Given the description of an element on the screen output the (x, y) to click on. 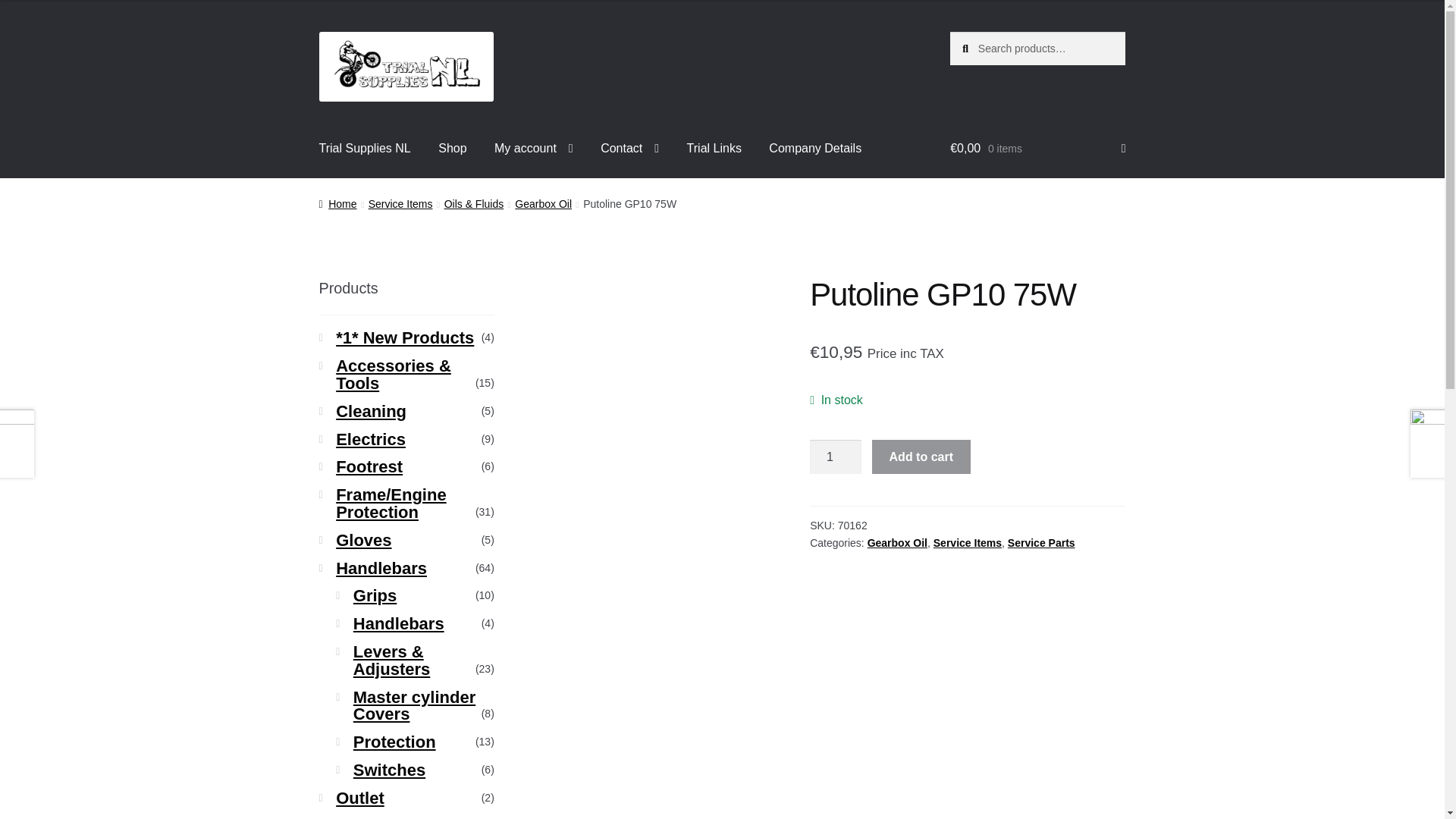
Company Details (815, 148)
View your shopping cart (1037, 148)
Add to cart (921, 457)
Service Parts (1041, 542)
Service Items (967, 542)
Contact (629, 148)
Trial Supplies NL (365, 148)
Home (337, 203)
